Given the description of an element on the screen output the (x, y) to click on. 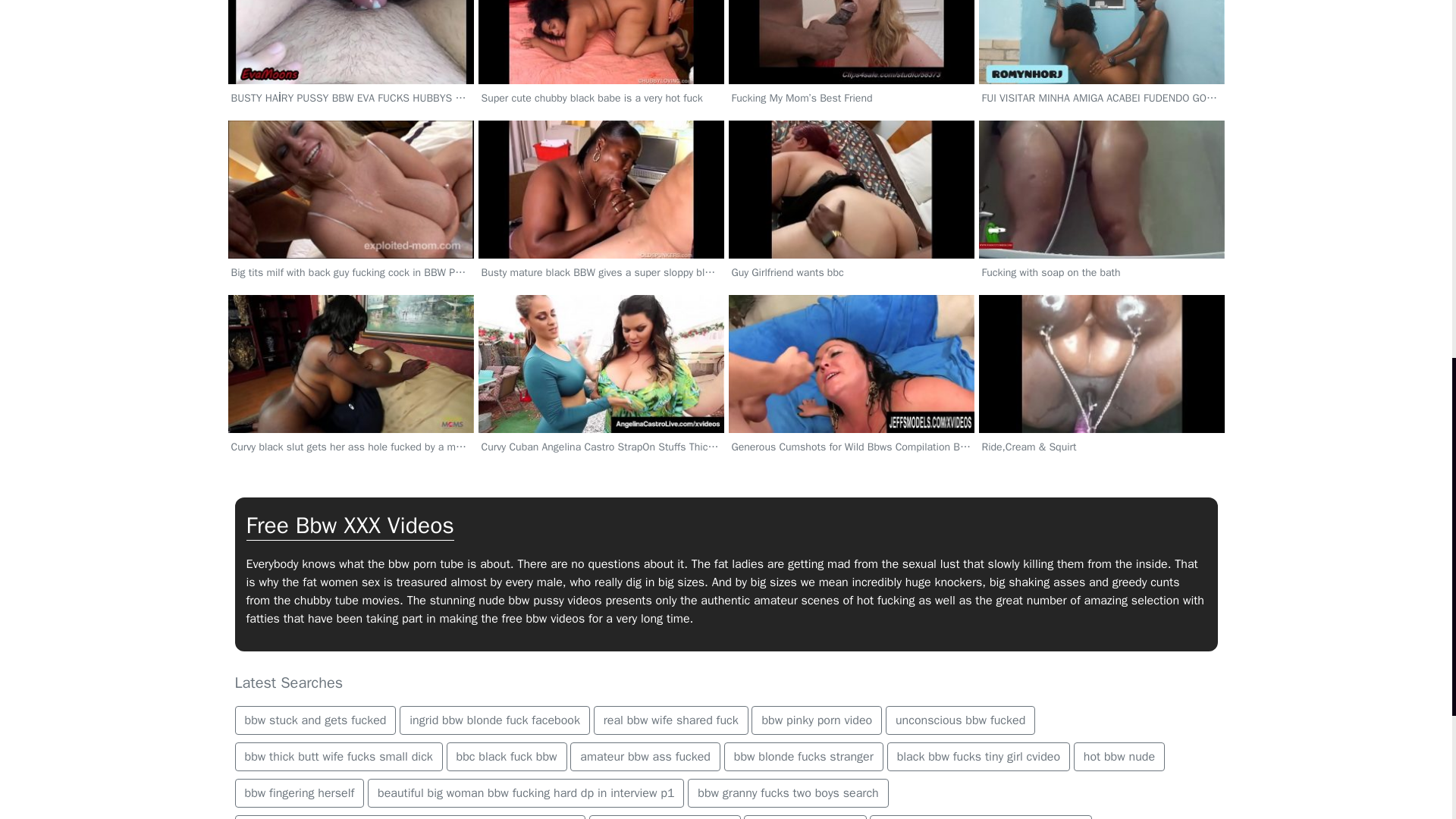
Super cute chubby black babe is a very hot fuck (601, 59)
bbw gets paid to fuck her sugar daddy (979, 816)
short hair bbw porn (805, 816)
Big tits milf with back guy fucking cock in BBW Porn Video (350, 233)
Generous Cumshots for Wild Bbws Compilation By Xvideos Tv (851, 408)
bbw fingering herself (299, 792)
Guy Girlfriend wants bbc (851, 233)
Curvy Cuban Angelina Castro StrapOn Stuffs Thick Ms Raquel (601, 408)
real bbw wife shared fuck (671, 719)
Curvy Cuban Angelina Castro StrapOn Stuffs Thick Ms Raquel (601, 408)
Guy Girlfriend wants bbc (851, 233)
bbw pinky porn video (816, 719)
bbw stuck and gets fucked (315, 719)
ingrid bbw blonde fuck facebook (493, 719)
